Given the description of an element on the screen output the (x, y) to click on. 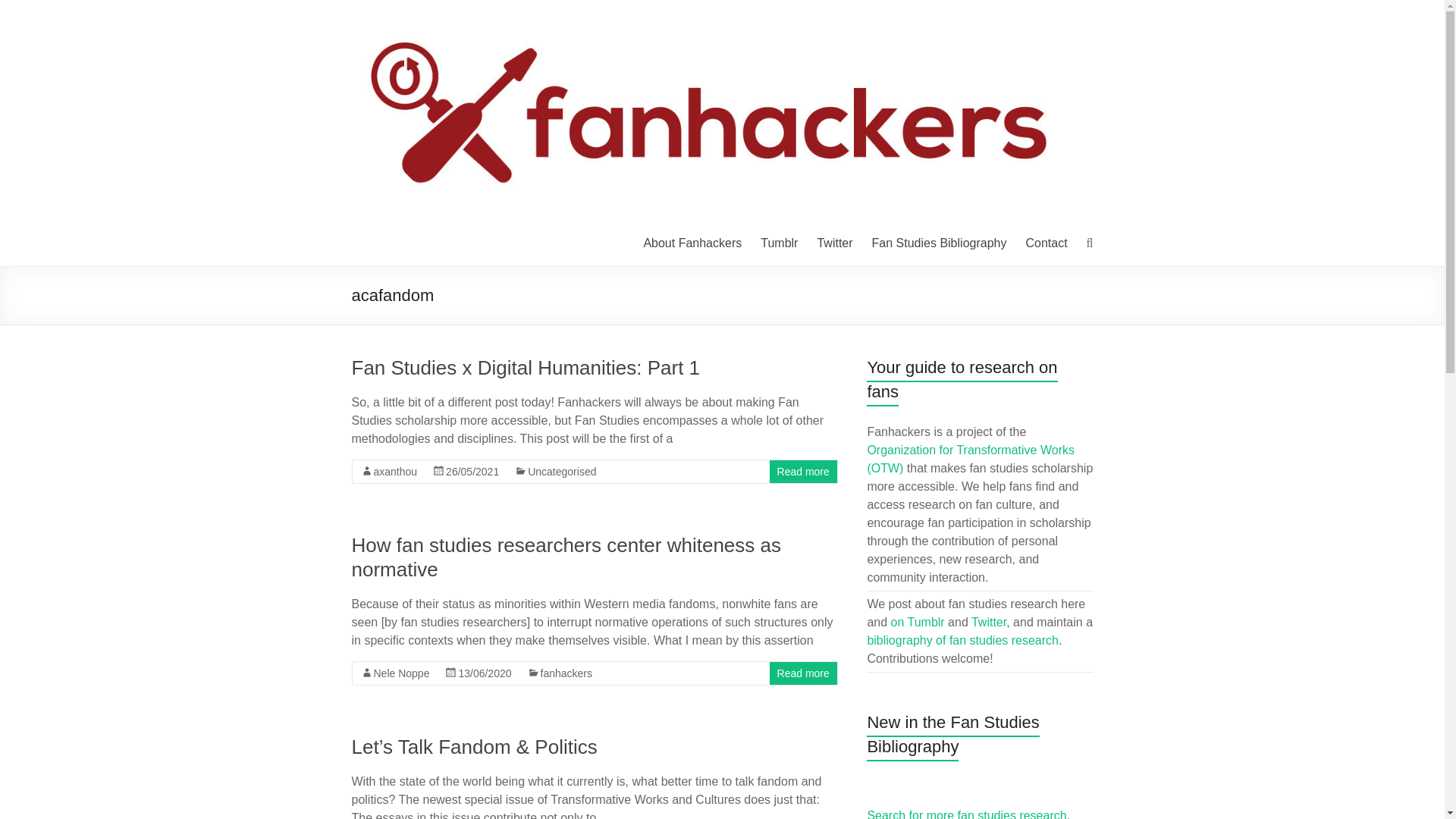
Fan Studies x Digital Humanities: Part 1 (526, 367)
How fan studies researchers center whiteness as normative (566, 556)
About Fanhackers (692, 242)
20:25 (472, 471)
Fanhackers (421, 30)
Tumblr (778, 242)
Fan Studies x Digital Humanities: Part 1 (526, 367)
Contact (1046, 242)
axanthou (394, 471)
Read more (803, 471)
